Given the description of an element on the screen output the (x, y) to click on. 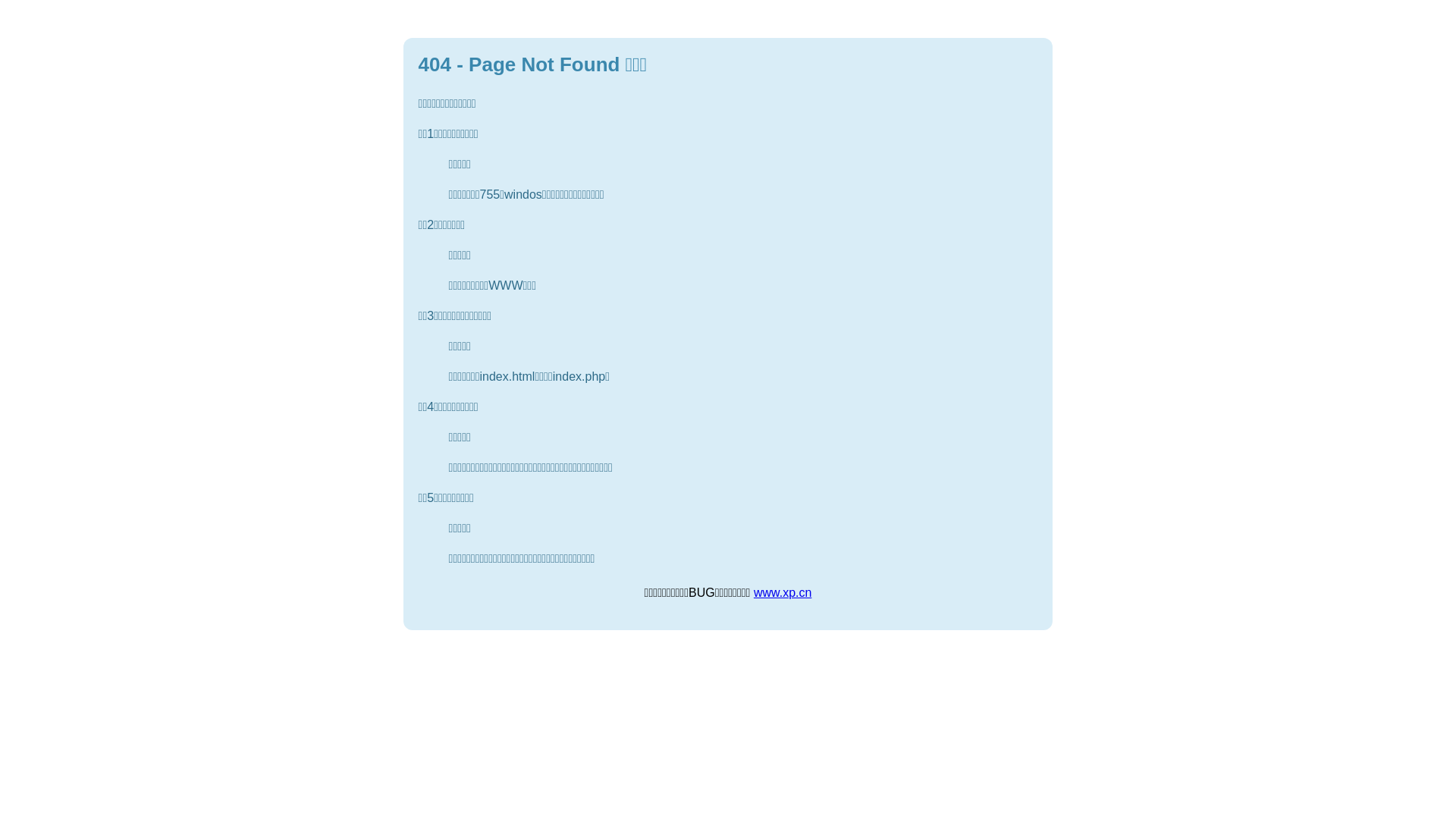
www.xp.cn Element type: text (782, 592)
